Given the description of an element on the screen output the (x, y) to click on. 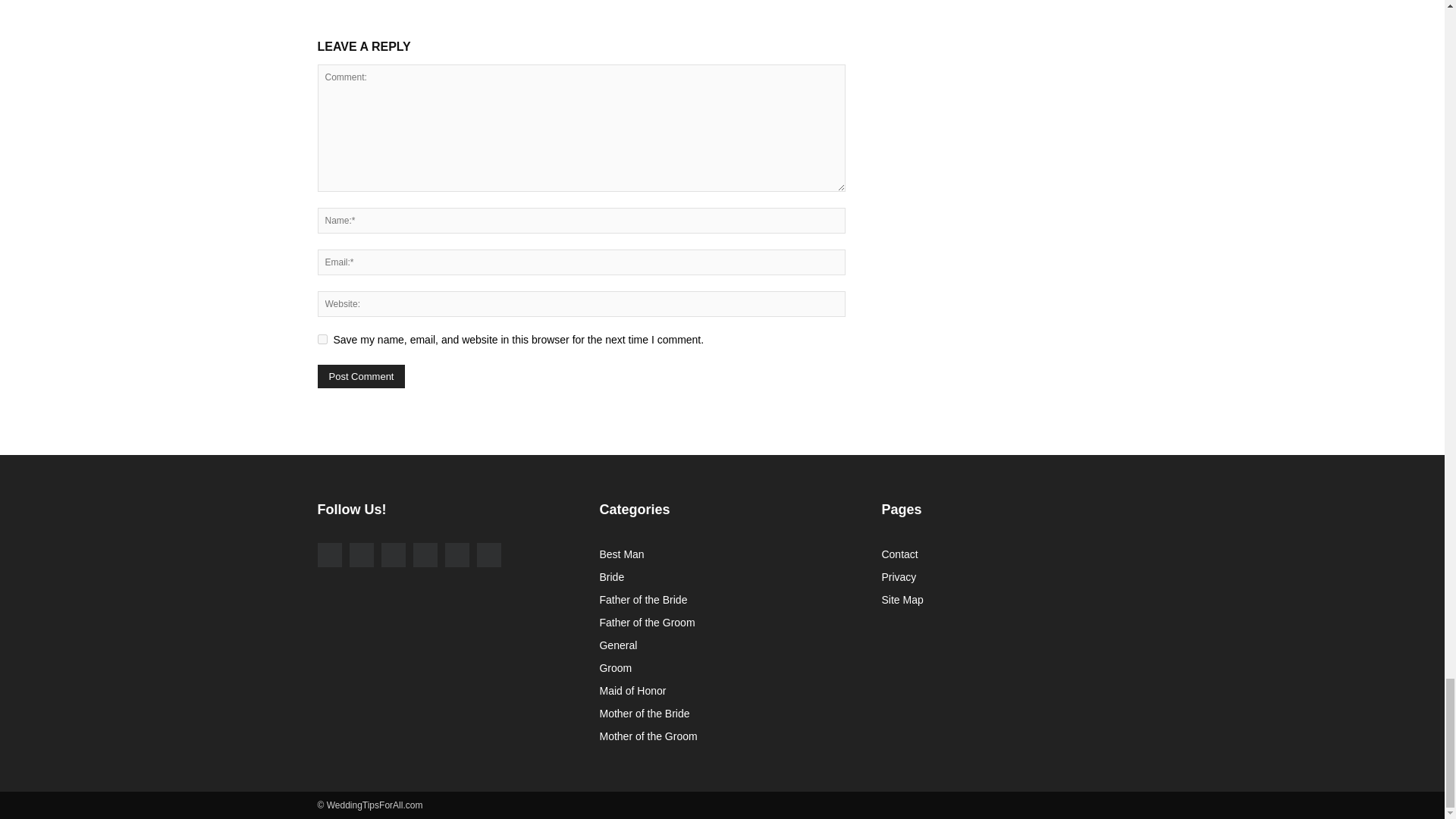
Follow Us on Twitter (392, 554)
Post Comment (360, 376)
Follow Us on Facebook (328, 554)
yes (321, 338)
